Given the description of an element on the screen output the (x, y) to click on. 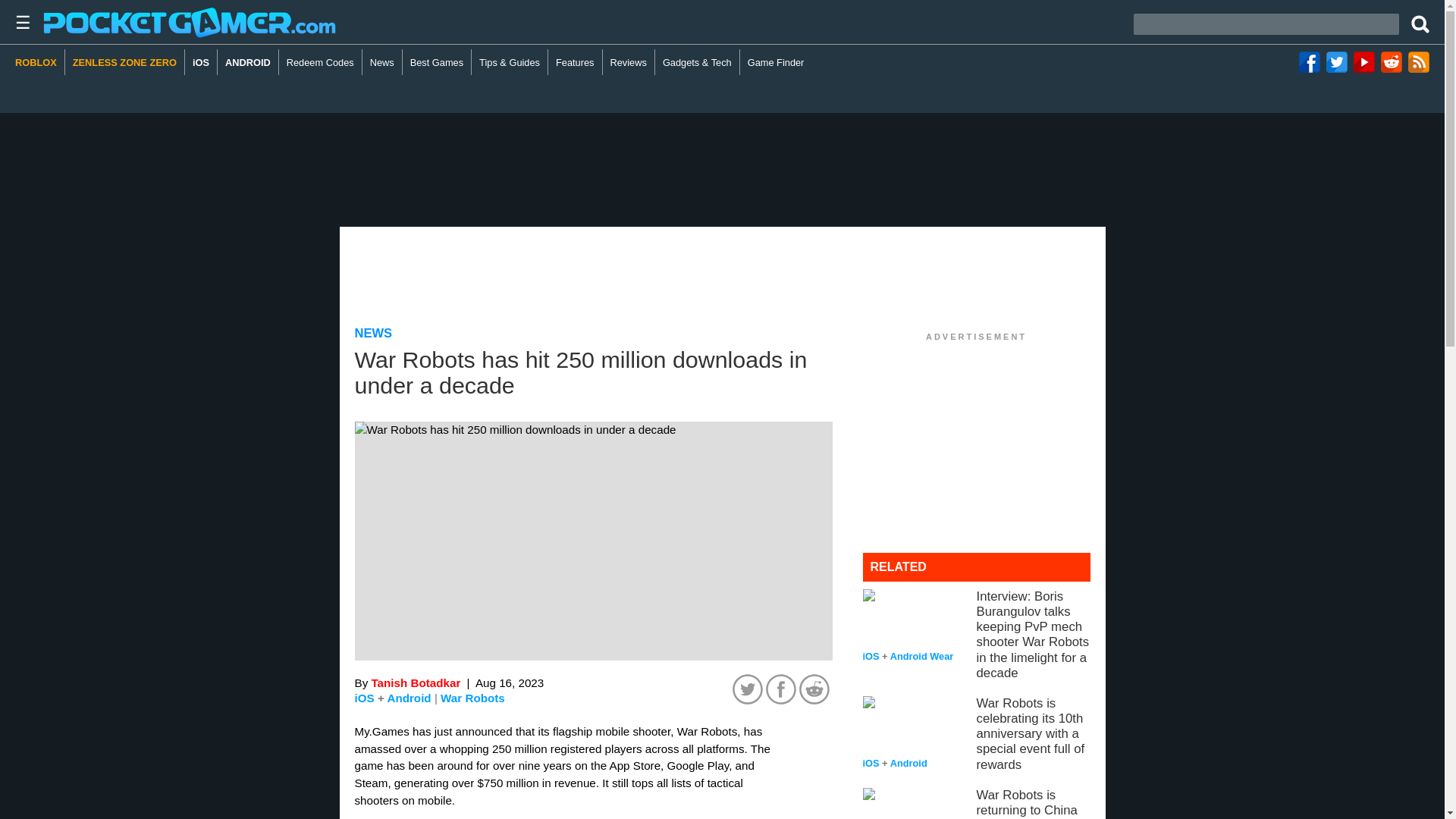
GO (1421, 22)
War Robots (473, 698)
Redeem Codes (320, 62)
GO (1421, 22)
Reviews (628, 62)
Browse Pocket Gamer (18, 22)
Game Finder (775, 62)
iOS (364, 697)
Android (408, 697)
Features (575, 62)
NEWS (374, 332)
Tanish Botadkar (415, 682)
ZENLESS ZONE ZERO (124, 62)
News (382, 62)
Best Games (437, 62)
